Given the description of an element on the screen output the (x, y) to click on. 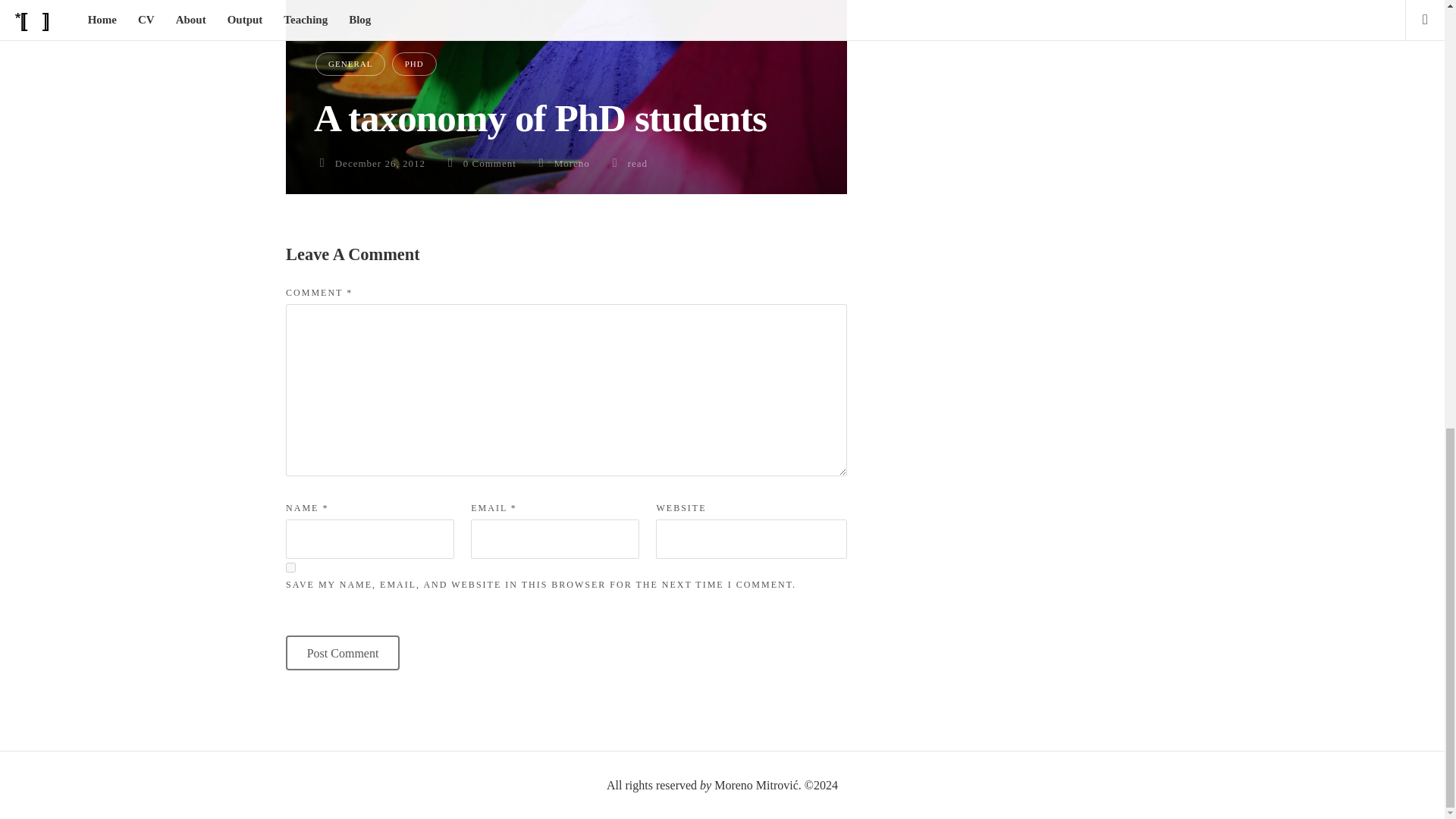
Post Comment (341, 652)
GENERAL (350, 64)
Post Comment (341, 652)
December 26, 2012 (379, 163)
Moreno (571, 163)
A taxonomy of PhD students (540, 117)
yes (290, 567)
PHD (413, 64)
0 Comment (489, 163)
